Given the description of an element on the screen output the (x, y) to click on. 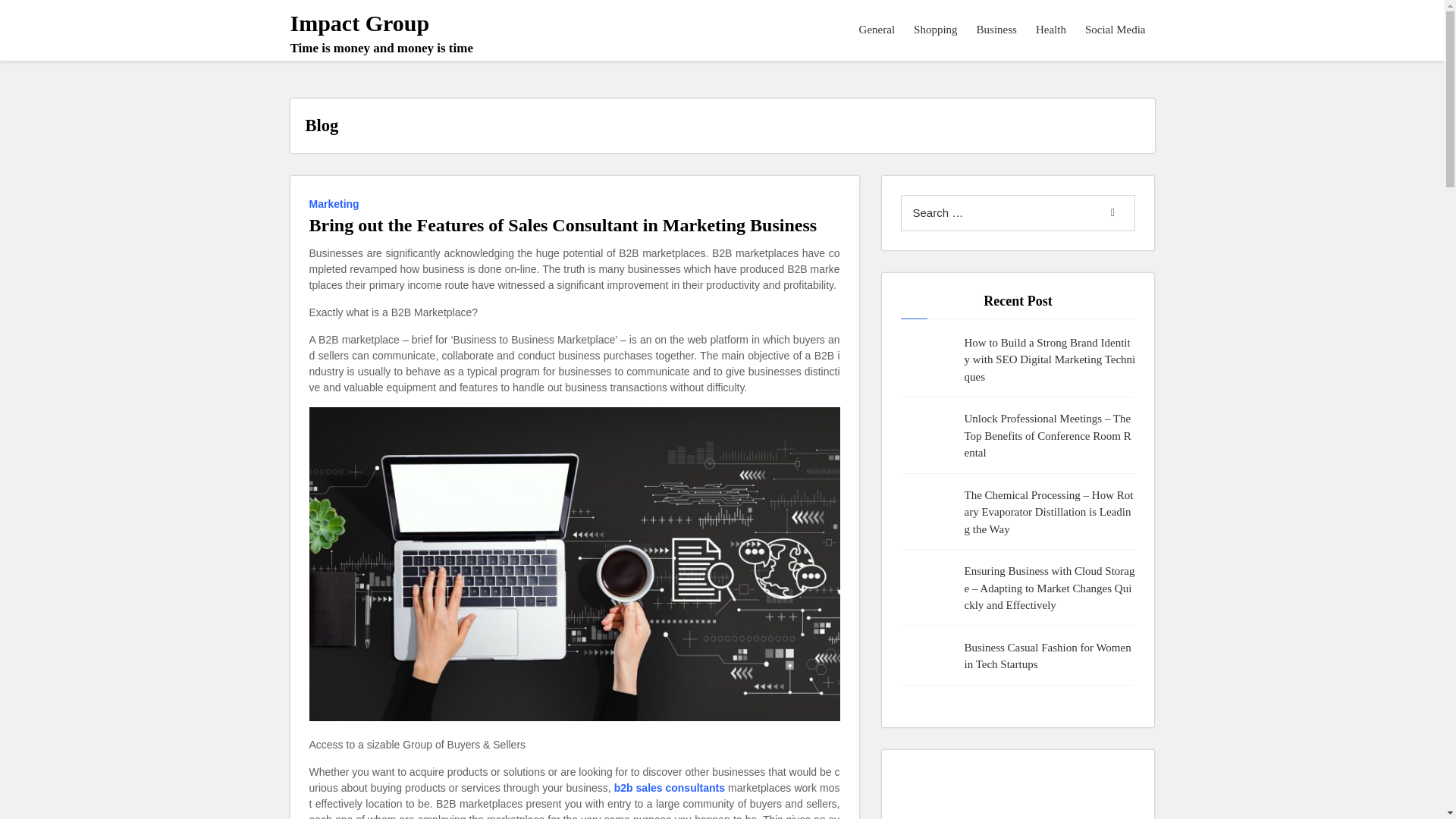
Business (997, 29)
General (876, 29)
Business Casual Fashion for Women in Tech Startups (1049, 656)
Marketing (336, 203)
Social Media (1115, 29)
Business (997, 29)
General (876, 29)
b2b sales consultants (380, 32)
Shopping (669, 788)
